Given the description of an element on the screen output the (x, y) to click on. 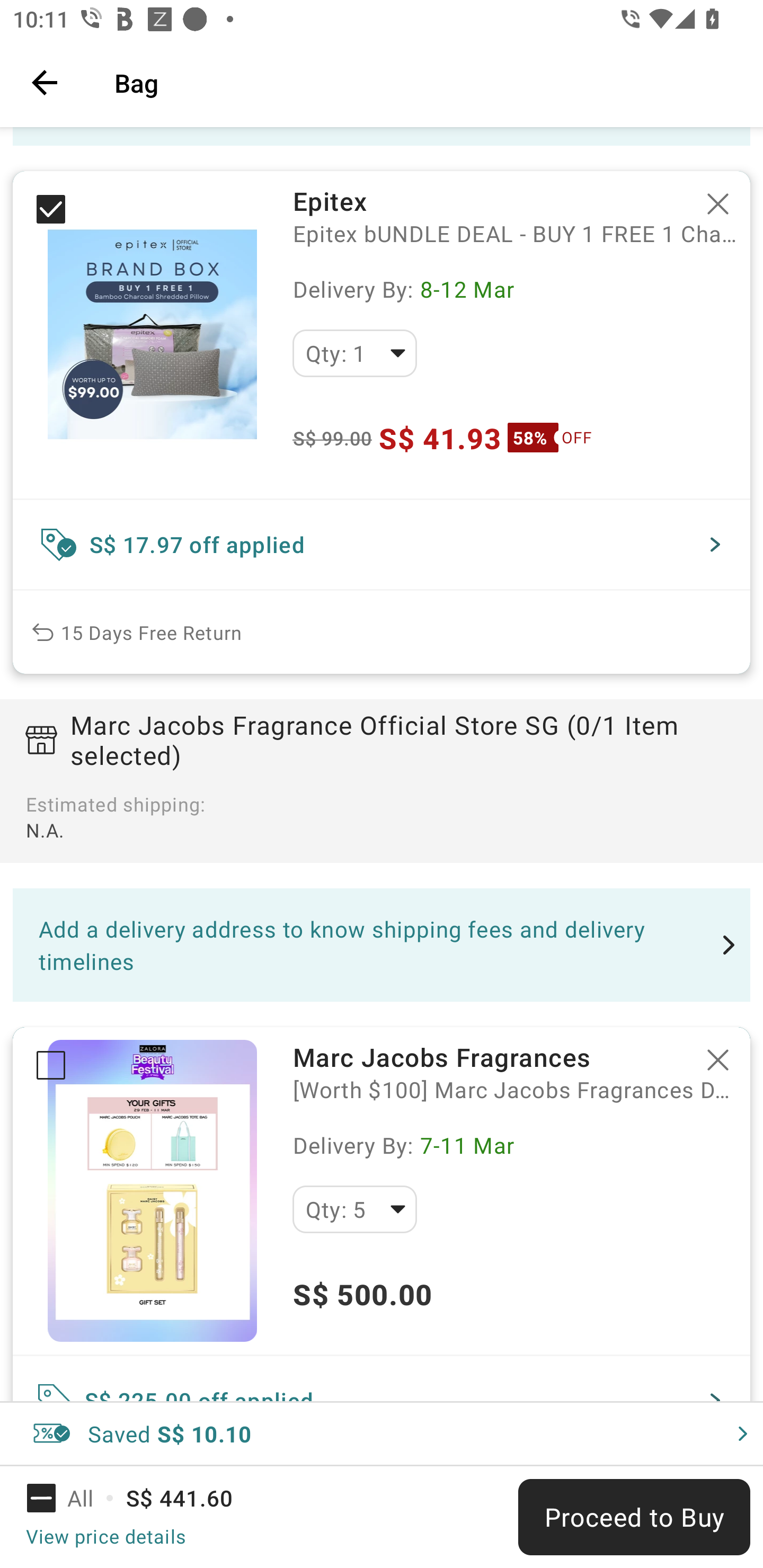
Navigate up (44, 82)
Bag (426, 82)
Qty: 1 (354, 353)
S$ 17.97 off applied (381, 544)
Qty: 5 (354, 1208)
Saved S$ 10.10 (381, 1433)
All (72, 1497)
Proceed to Buy (634, 1516)
View price details (105, 1535)
